Given the description of an element on the screen output the (x, y) to click on. 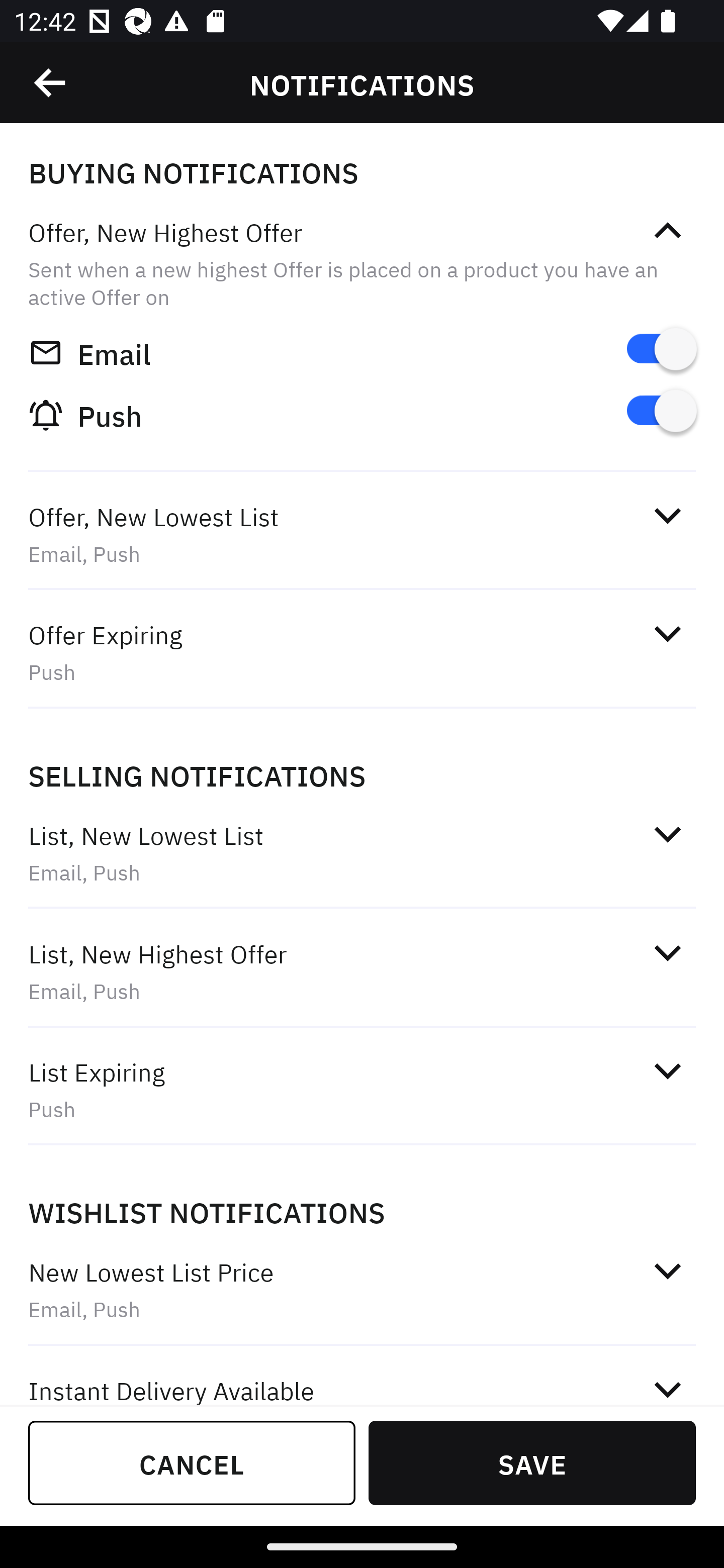
 (50, 83)
 (667, 231)
Offer, New Lowest List  Email, Push (361, 534)
 (667, 514)
Offer Expiring  Push (361, 652)
 (667, 633)
List, New Lowest List  Email, Push (361, 852)
 (667, 834)
List, New Highest Offer  Email, Push (361, 971)
 (667, 952)
List Expiring  Push (361, 1089)
 (667, 1070)
New Lowest List Price  Email, Push (361, 1290)
 (667, 1270)
Instant Delivery Available  (361, 1377)
 (667, 1385)
CANCEL (191, 1462)
SAVE (531, 1462)
